Given the description of an element on the screen output the (x, y) to click on. 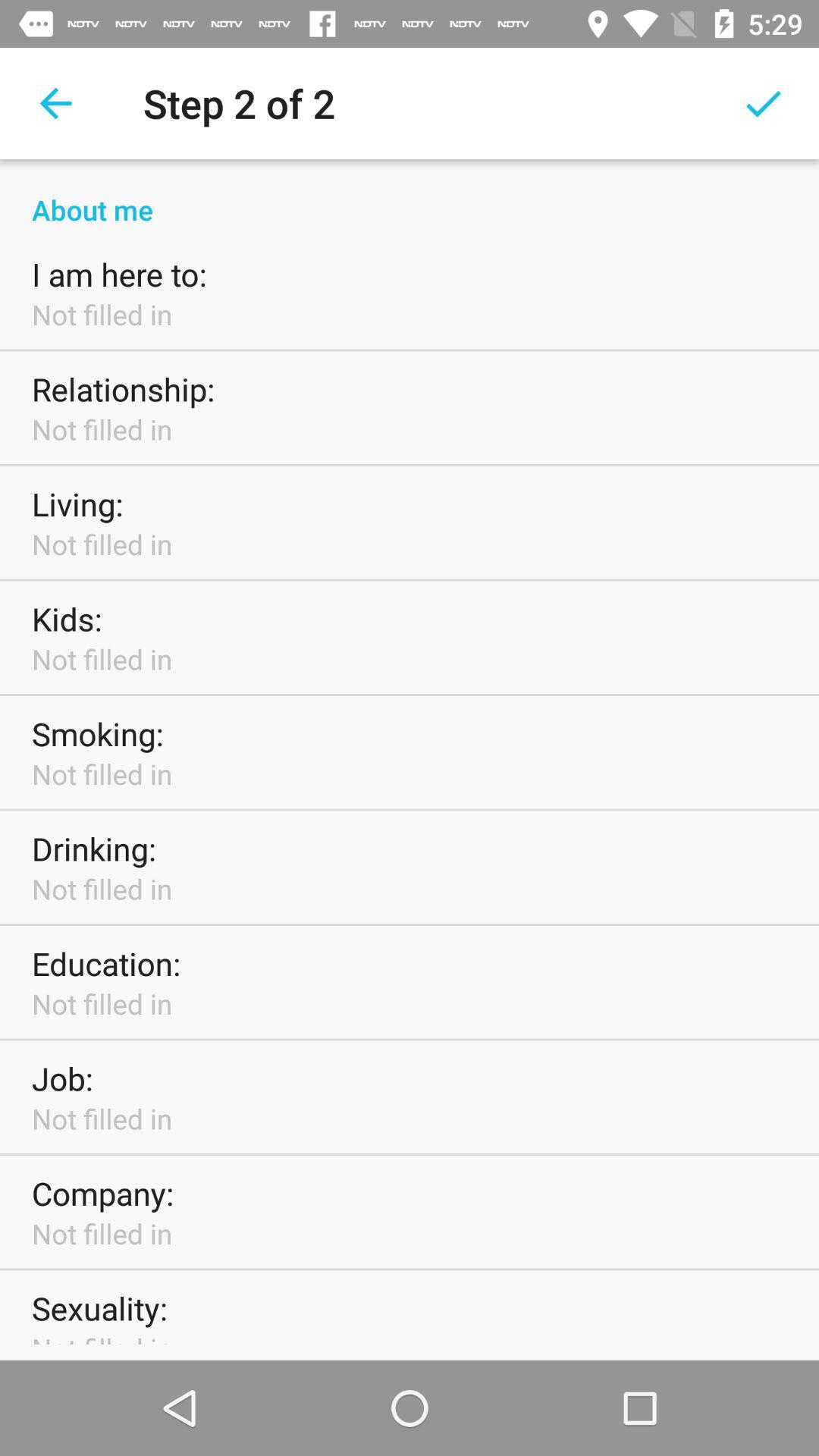
select item to the left of the step 2 of (55, 103)
